Given the description of an element on the screen output the (x, y) to click on. 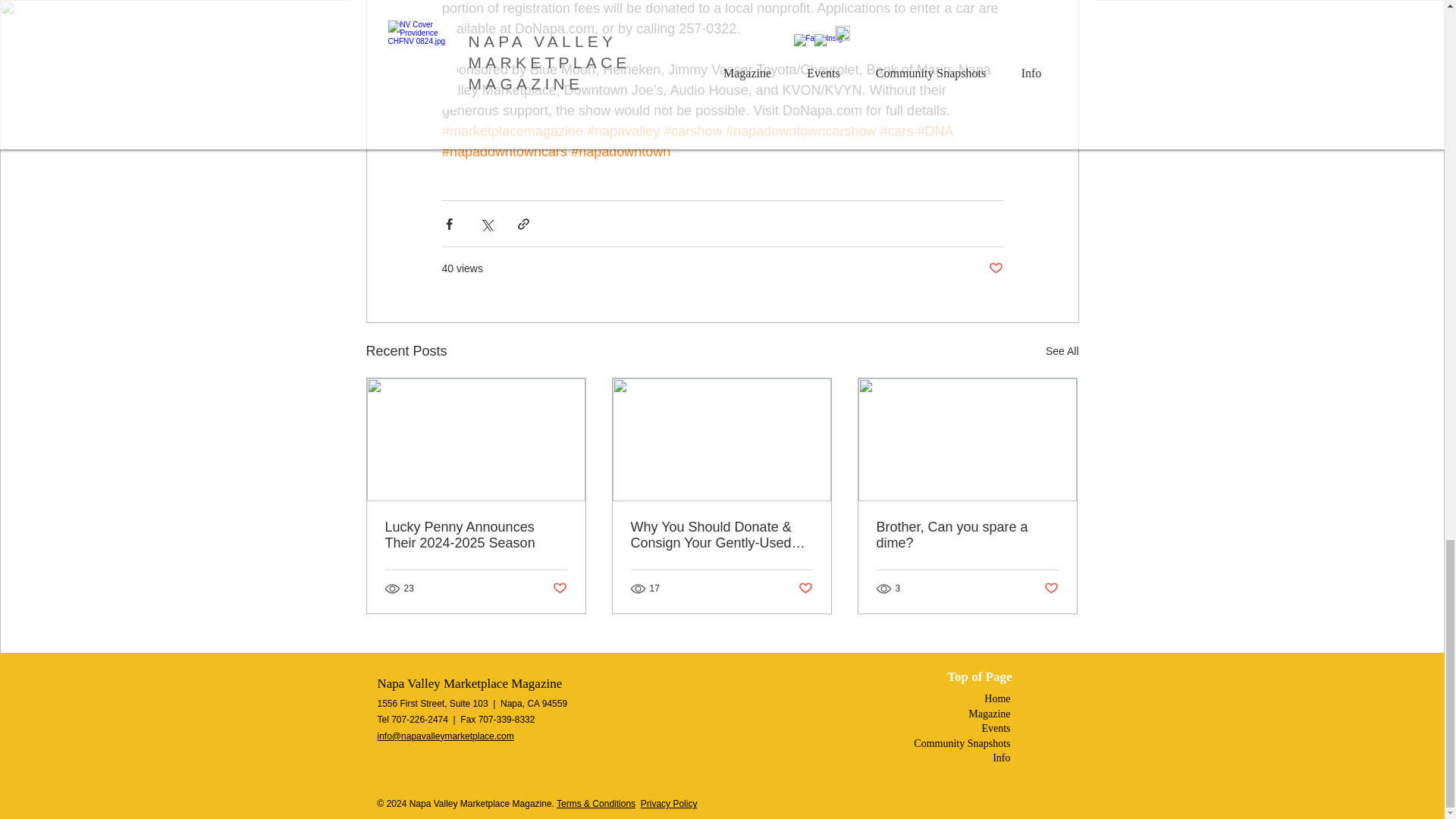
See All (1061, 351)
Brother, Can you spare a dime? (967, 535)
Lucky Penny Announces Their 2024-2025 Season (476, 535)
Post not marked as liked (558, 587)
Post not marked as liked (995, 268)
Post not marked as liked (804, 587)
